Given the description of an element on the screen output the (x, y) to click on. 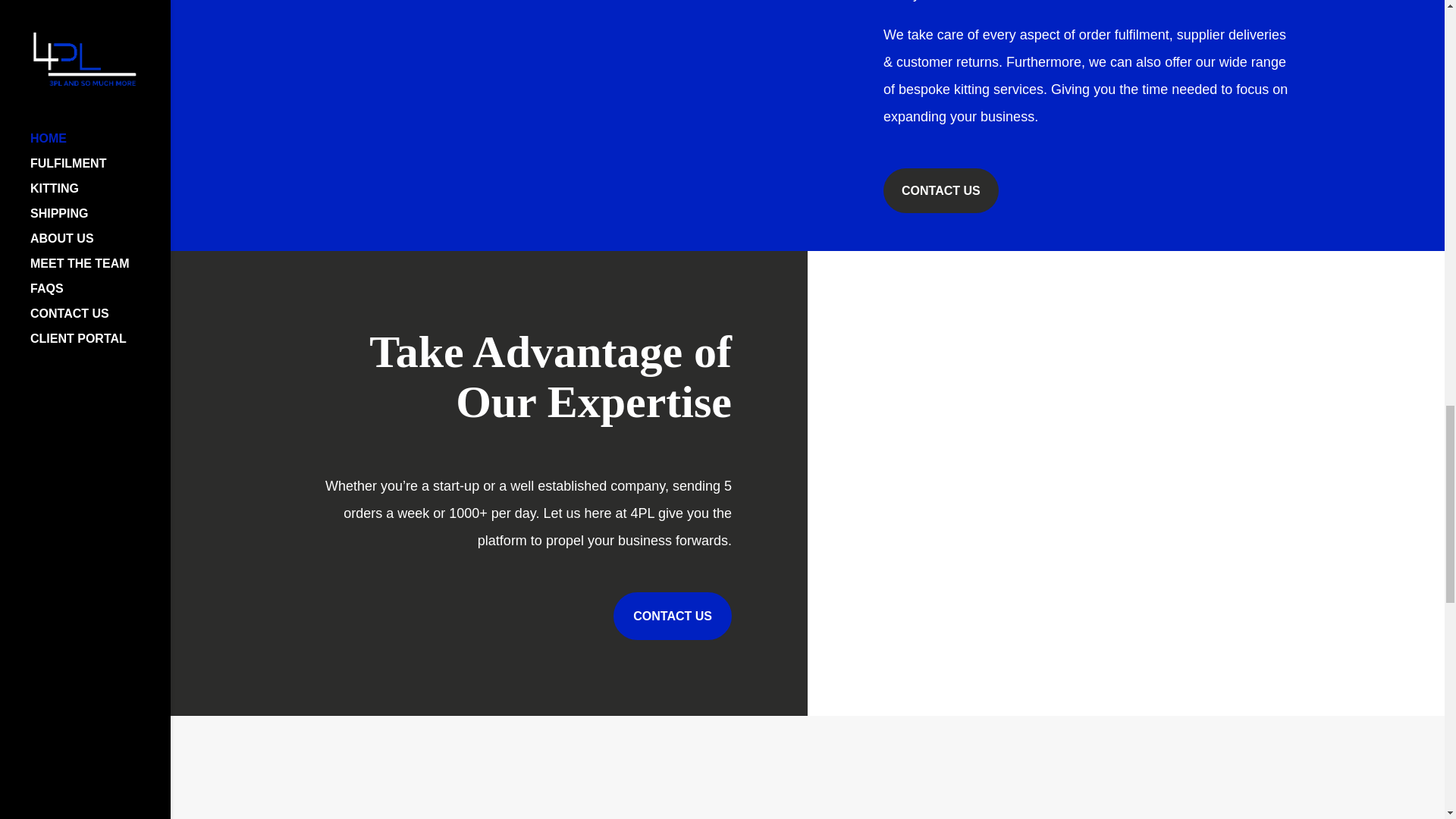
CONTACT US (672, 615)
CONTACT US (940, 190)
4PL-Team (489, 42)
